Given the description of an element on the screen output the (x, y) to click on. 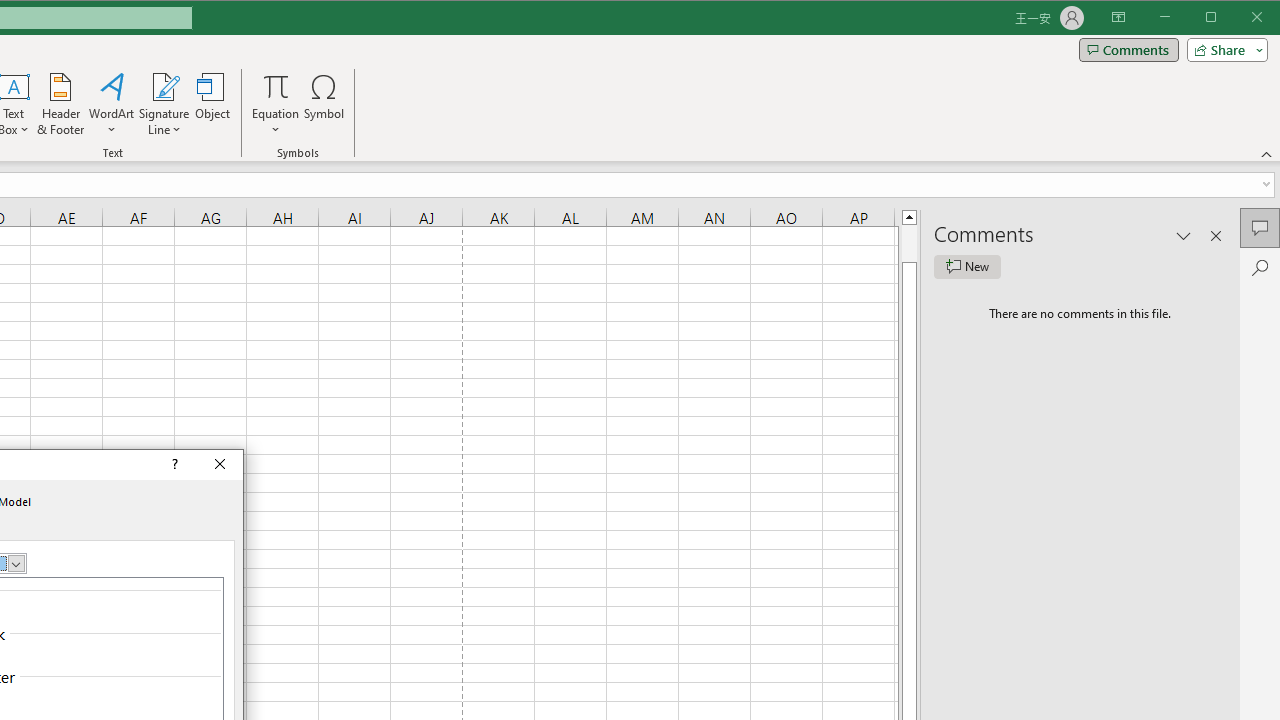
Page up (909, 243)
WordArt (111, 104)
Signature Line (164, 86)
New comment (967, 266)
Context help (173, 465)
Symbol... (324, 104)
